Given the description of an element on the screen output the (x, y) to click on. 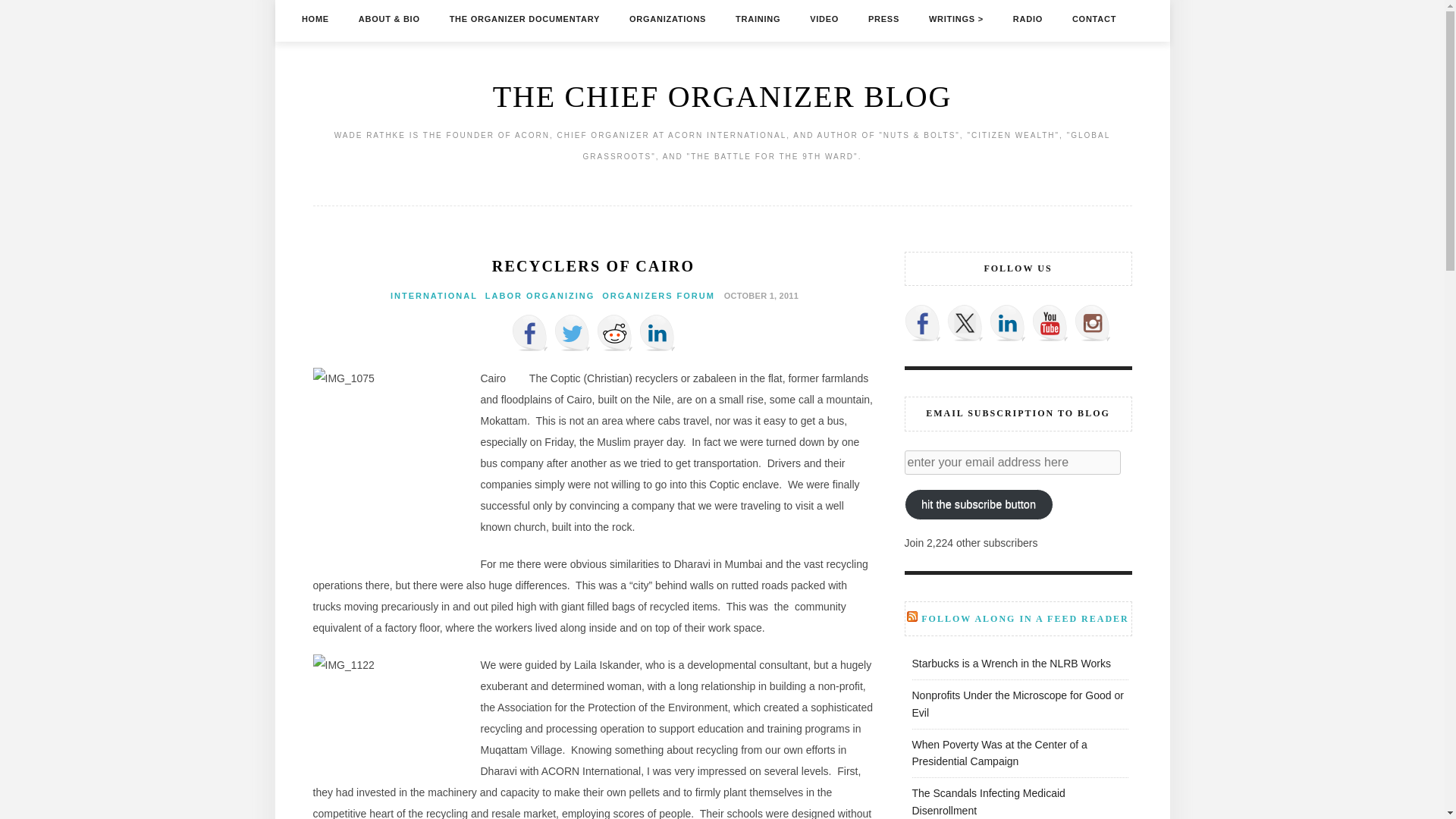
THE ORGANIZER DOCUMENTARY (524, 18)
Share on Reddit (613, 332)
THE CHIEF ORGANIZER BLOG (722, 96)
LABOR ORGANIZING (539, 295)
ORGANIZERS FORUM (658, 295)
ORGANIZATIONS (667, 18)
Share on Facebook (529, 332)
TRAINING (757, 18)
OCTOBER 1, 2011 (758, 295)
CONTACT (1093, 18)
